Given the description of an element on the screen output the (x, y) to click on. 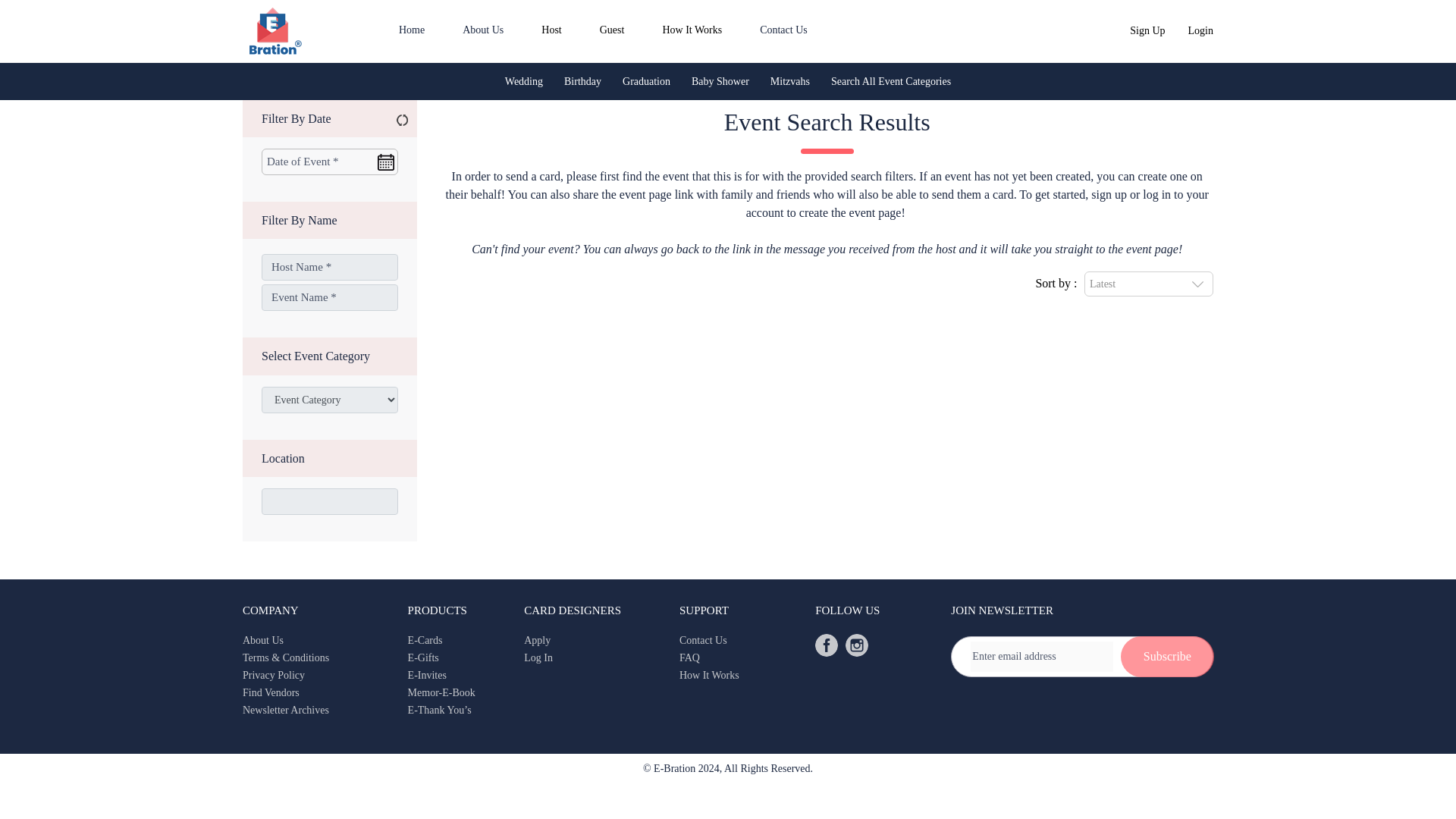
Home (412, 29)
How It Works (692, 29)
About Us (483, 29)
Contact Us (784, 29)
Guest (611, 29)
Login (1200, 30)
Sign Up (1146, 30)
Host (550, 29)
